Given the description of an element on the screen output the (x, y) to click on. 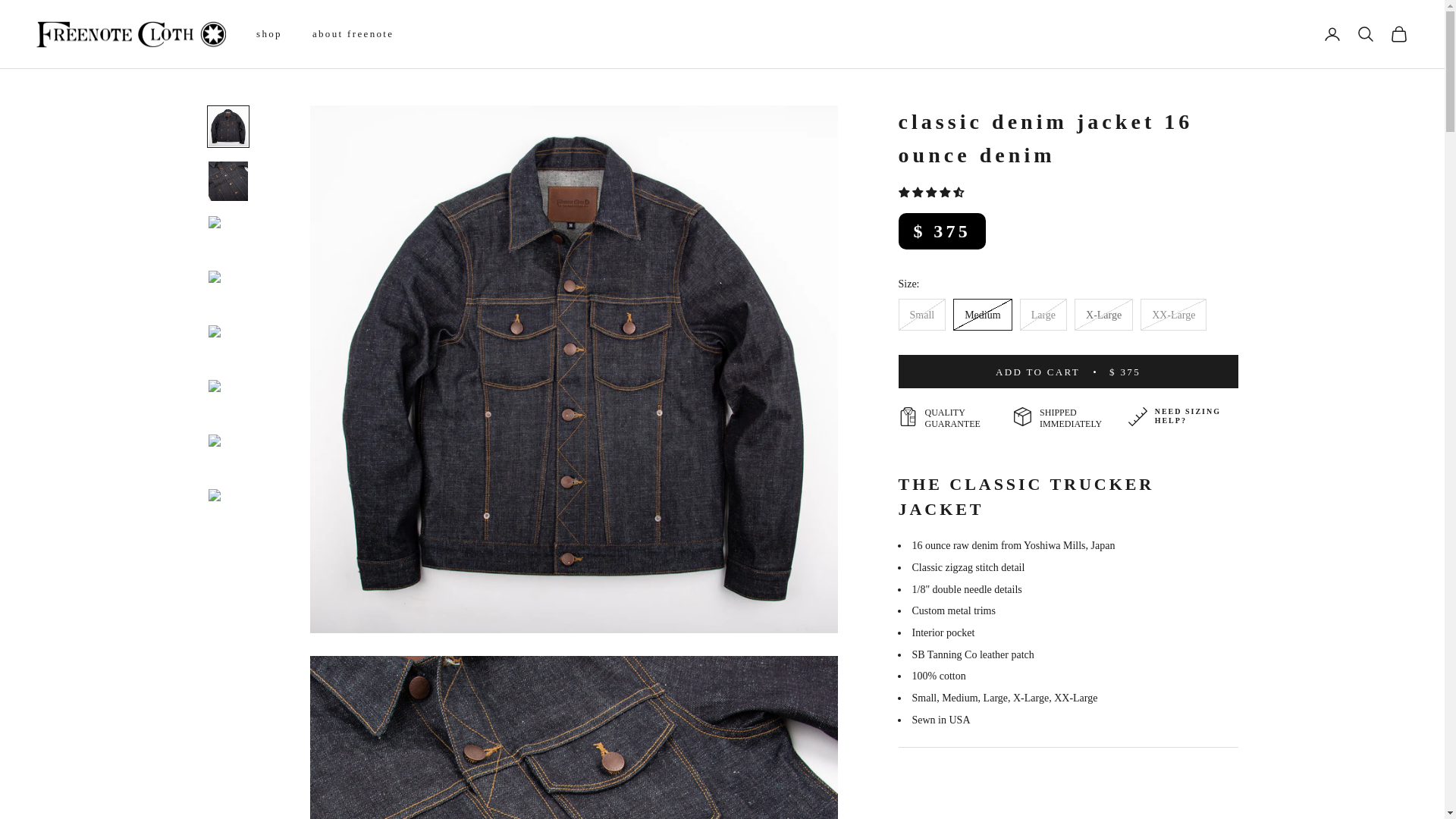
Open cart (1398, 34)
Open search (1365, 34)
Freenote Cloth (130, 34)
Open account page (1331, 34)
